Given the description of an element on the screen output the (x, y) to click on. 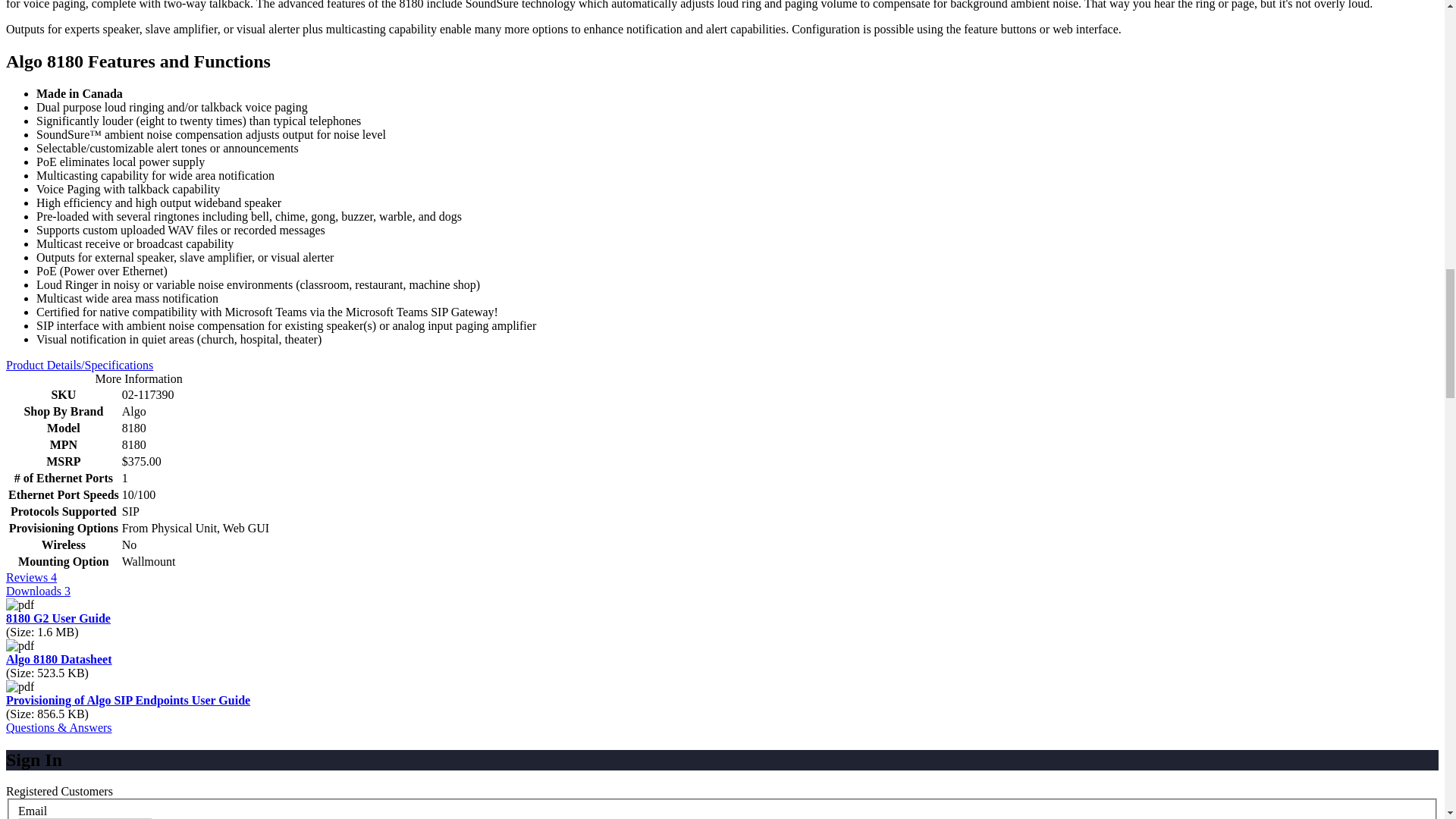
Reviews 4 (30, 576)
Downloads 3 (37, 590)
8180 G2 User Guide (57, 617)
